Given the description of an element on the screen output the (x, y) to click on. 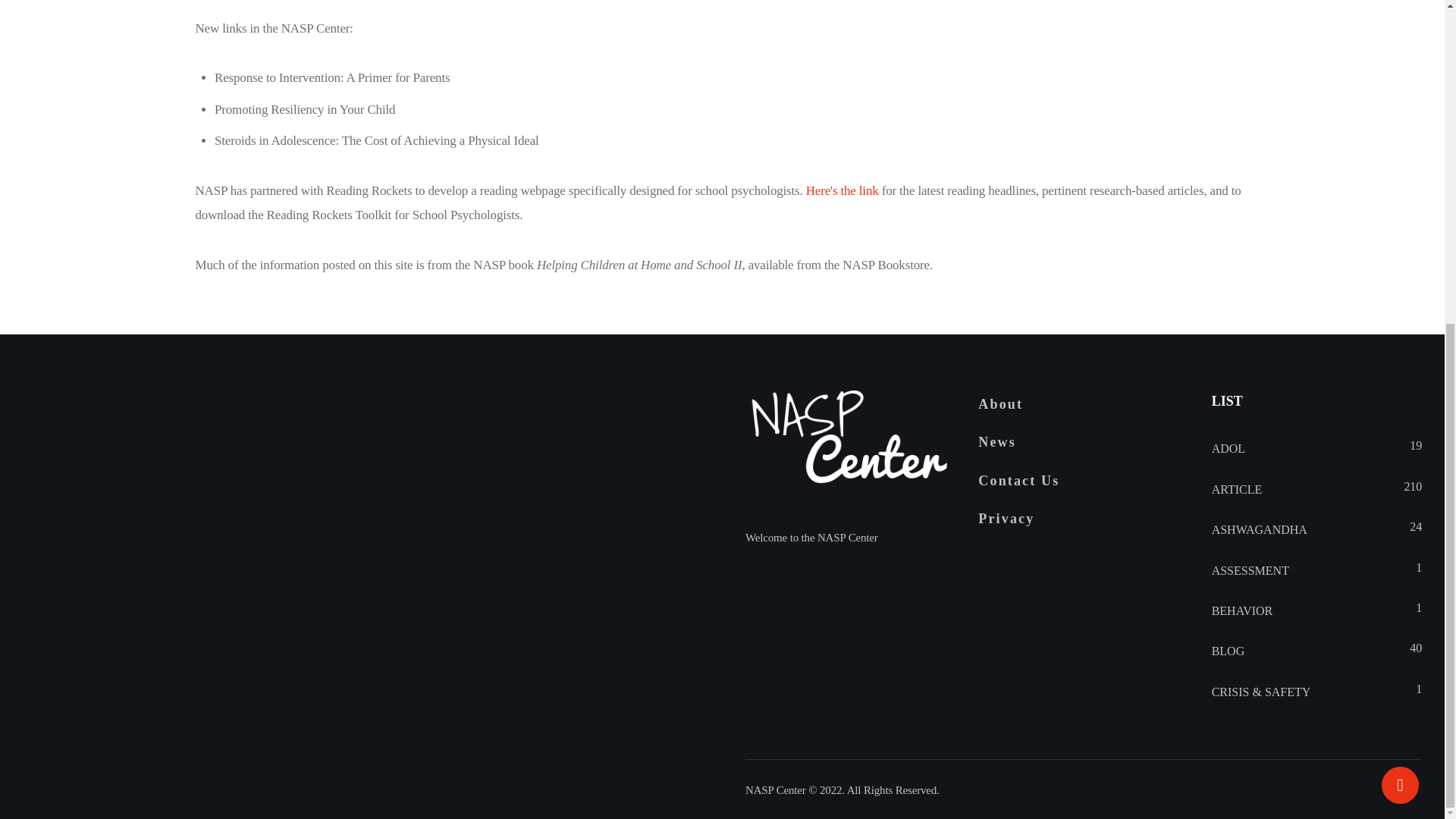
About (1083, 403)
Here's the link (842, 190)
Contact Us (1083, 480)
News (1083, 442)
